Given the description of an element on the screen output the (x, y) to click on. 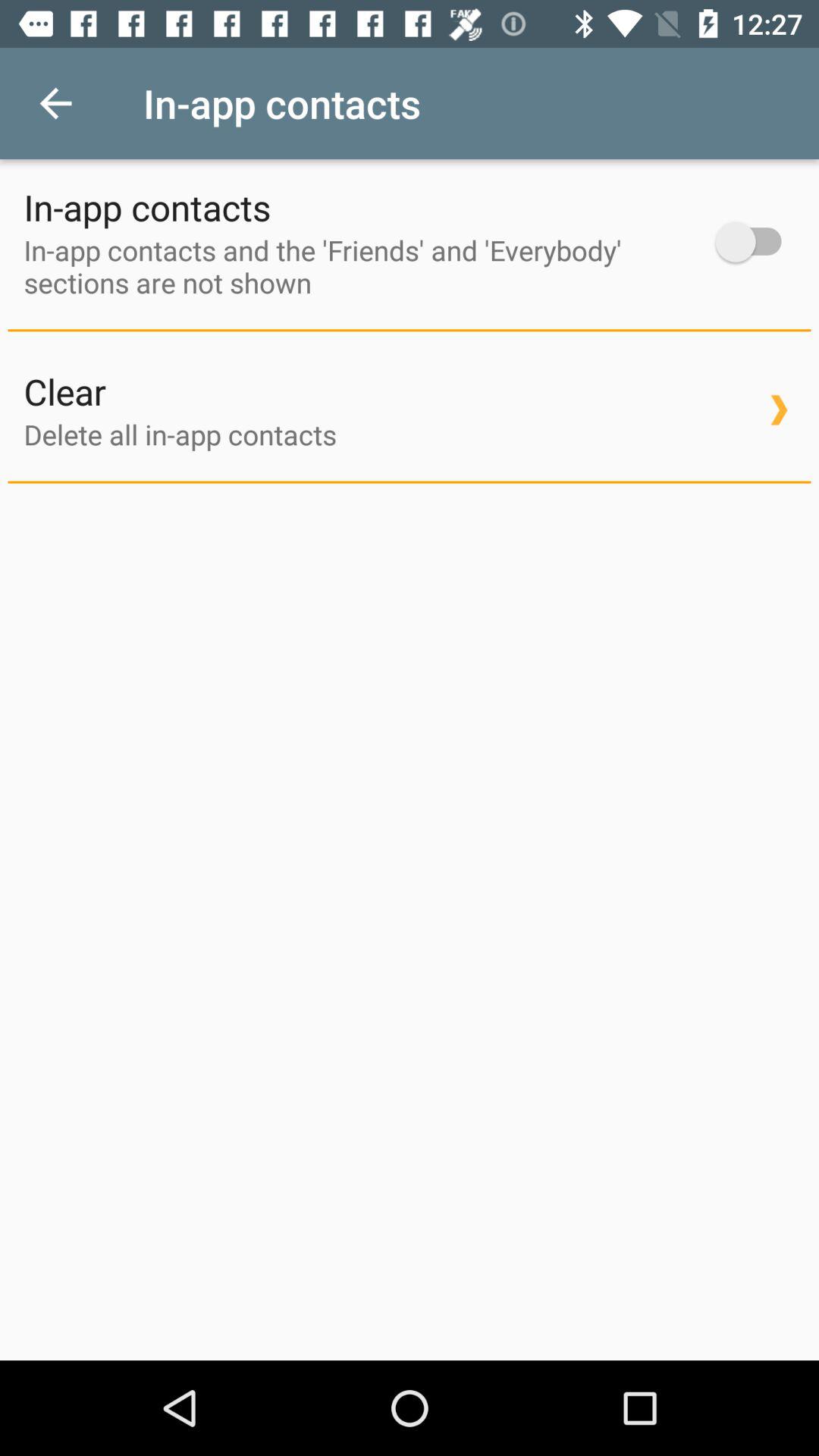
turn on the icon next to in-app contacts icon (755, 241)
